Given the description of an element on the screen output the (x, y) to click on. 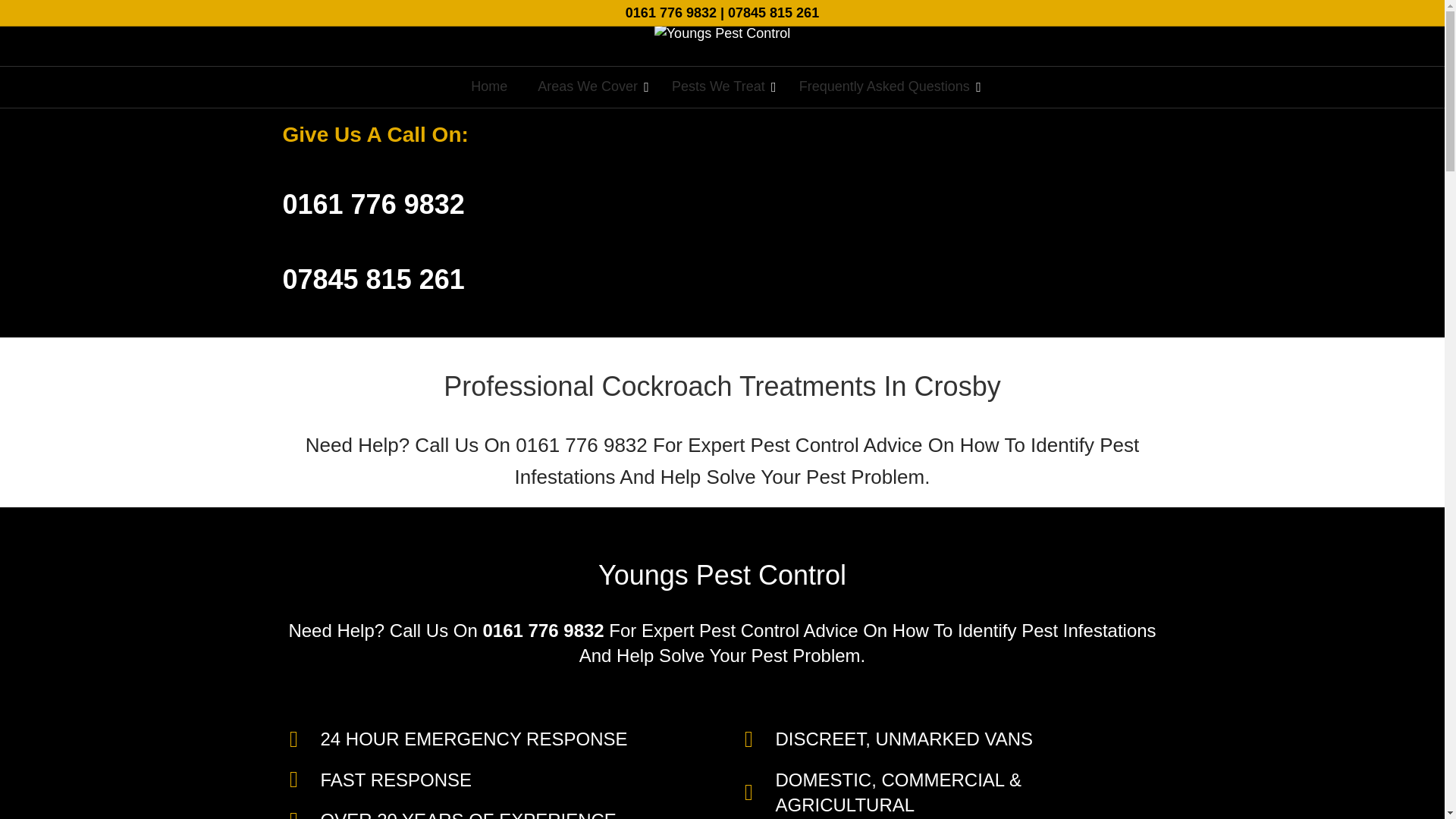
Pests We Treat (720, 86)
Frequently Asked Questions (886, 86)
Home (488, 86)
0161 776 9832 (671, 12)
07845 815 261 (773, 12)
Areas We Cover (589, 86)
